Given the description of an element on the screen output the (x, y) to click on. 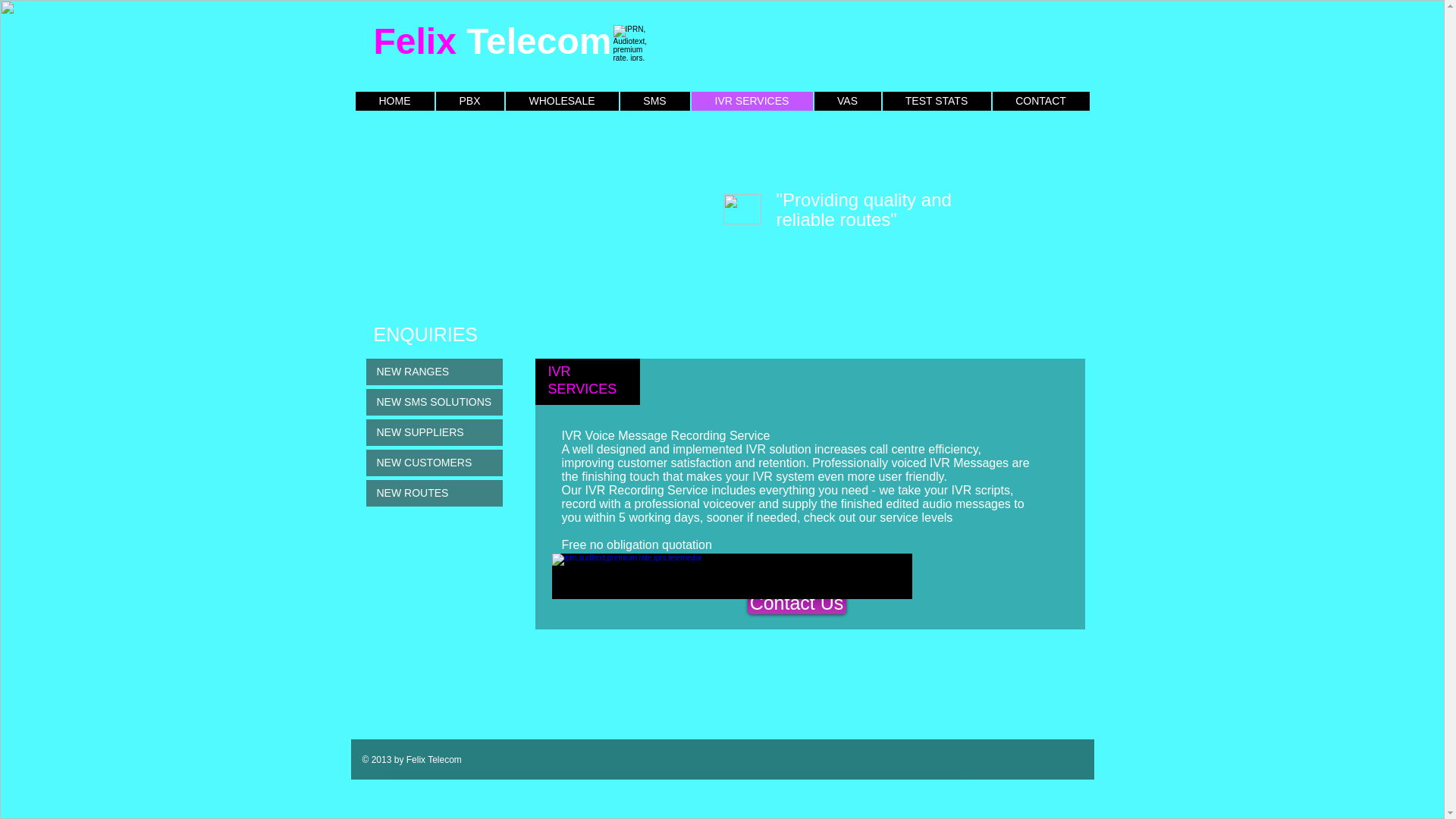
WHOLESALE (561, 100)
IVR SERVICES (751, 100)
VAS (846, 100)
CONTACT (1040, 100)
NEW ROUTES (433, 492)
HOME (394, 100)
PBX (469, 100)
NEW CUSTOMERS (433, 462)
NEW SMS SOLUTIONS (433, 402)
SMS (655, 100)
TEST STATS (936, 100)
Contact Us (796, 602)
NEW RANGES (433, 371)
NEW SUPPLIERS (433, 432)
